Given the description of an element on the screen output the (x, y) to click on. 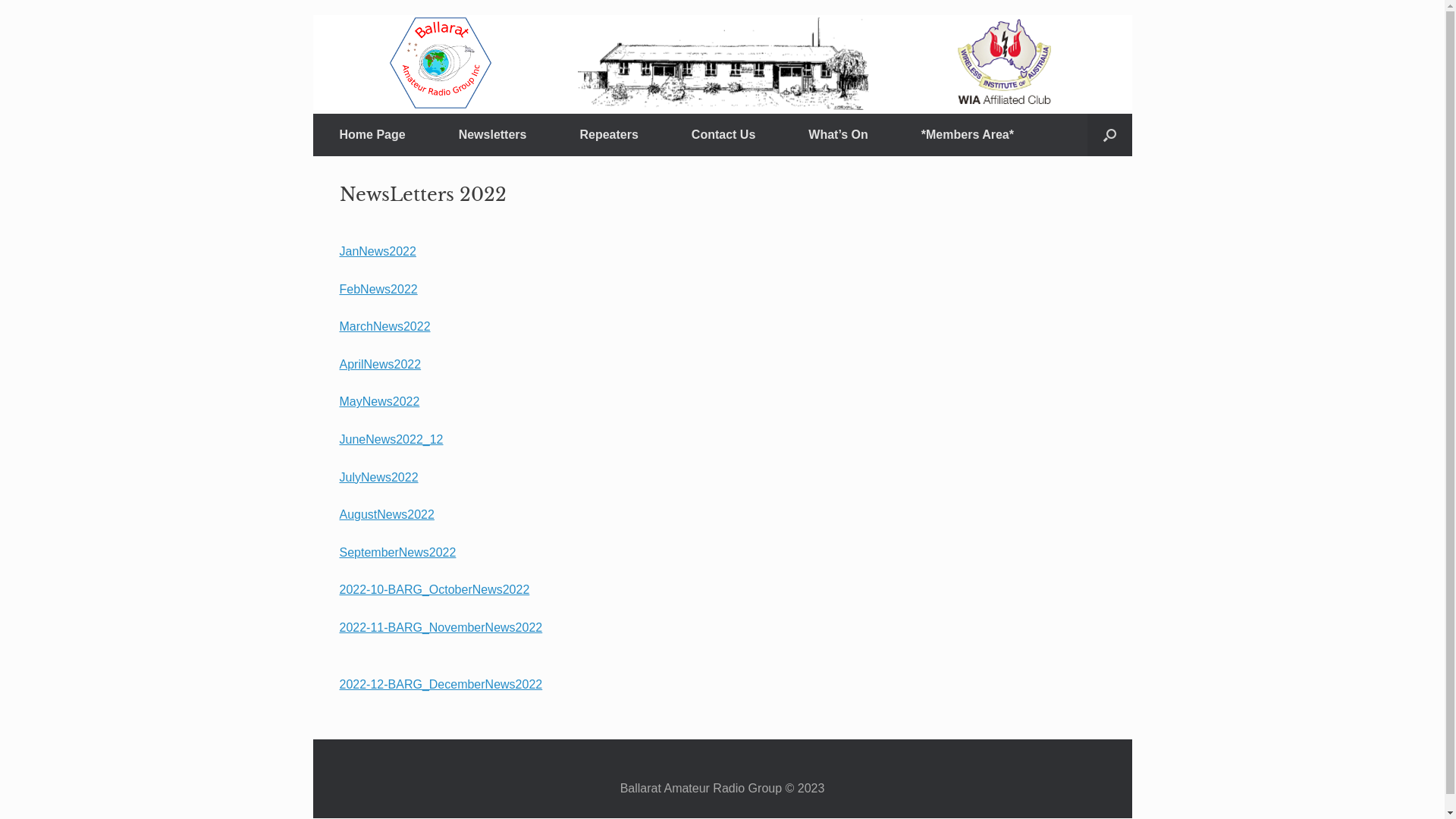
2022-12-BARG_DecemberNews2022 Element type: text (440, 683)
2022-11-BARG_NovemberNews2022 Element type: text (440, 637)
2022-10-BARG_OctoberNews2022 Element type: text (434, 589)
Home Page Element type: text (371, 134)
Repeaters Element type: text (608, 134)
AugustNews2022 Element type: text (386, 514)
Newsletters Element type: text (492, 134)
JanNews2022 Element type: text (377, 260)
MayNews2022 Element type: text (379, 401)
MarchNews2022 Element type: text (384, 326)
*Members Area* Element type: text (967, 134)
SeptemberNews2022 Element type: text (397, 552)
JulyNews2022 Element type: text (378, 476)
AprilNews2022 Element type: text (380, 363)
FebNews2022 Element type: text (378, 288)
Contact Us Element type: text (723, 134)
JuneNews2022_12 Element type: text (391, 439)
